Given the description of an element on the screen output the (x, y) to click on. 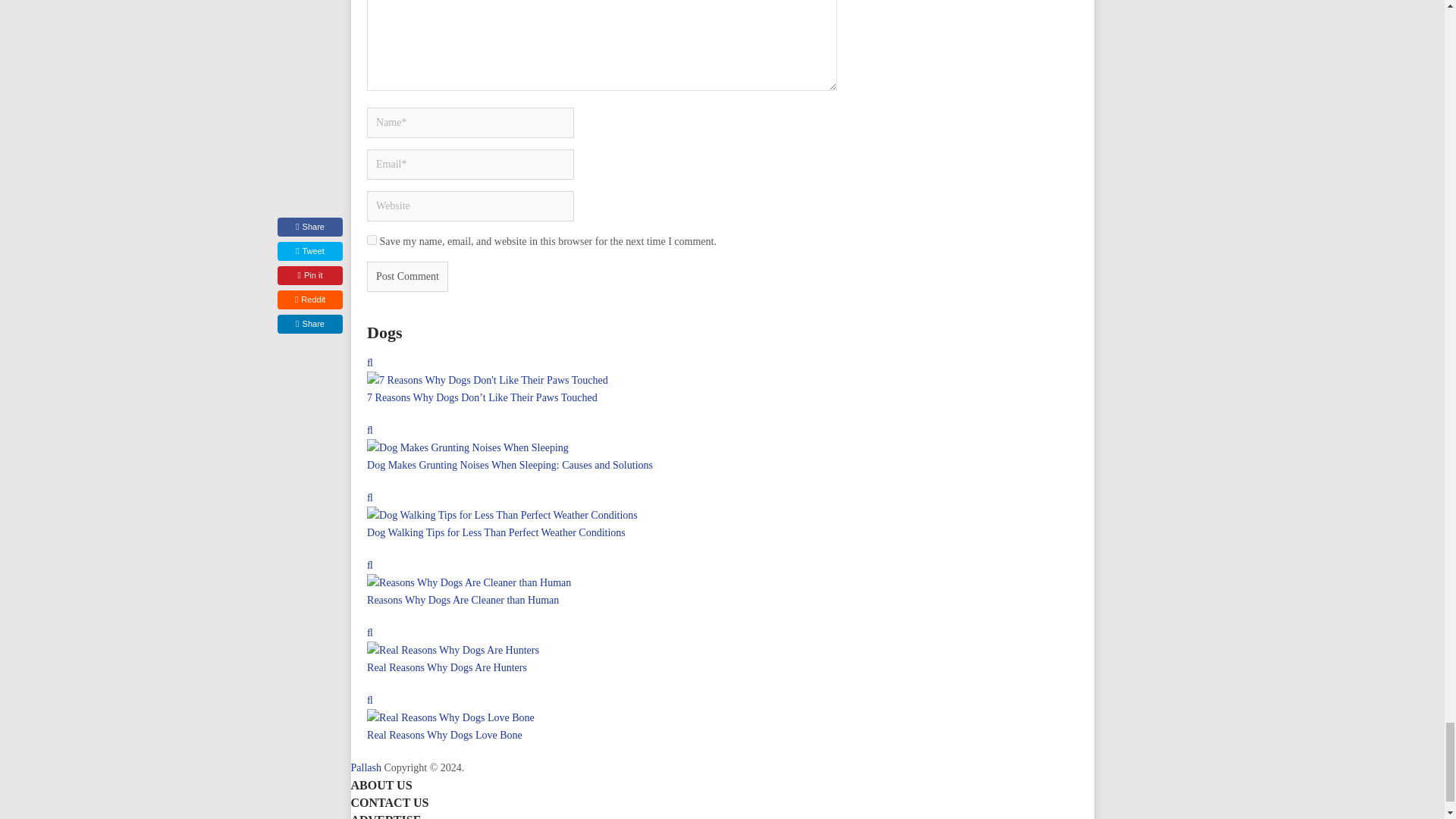
Post Comment (407, 276)
yes (371, 239)
